Given the description of an element on the screen output the (x, y) to click on. 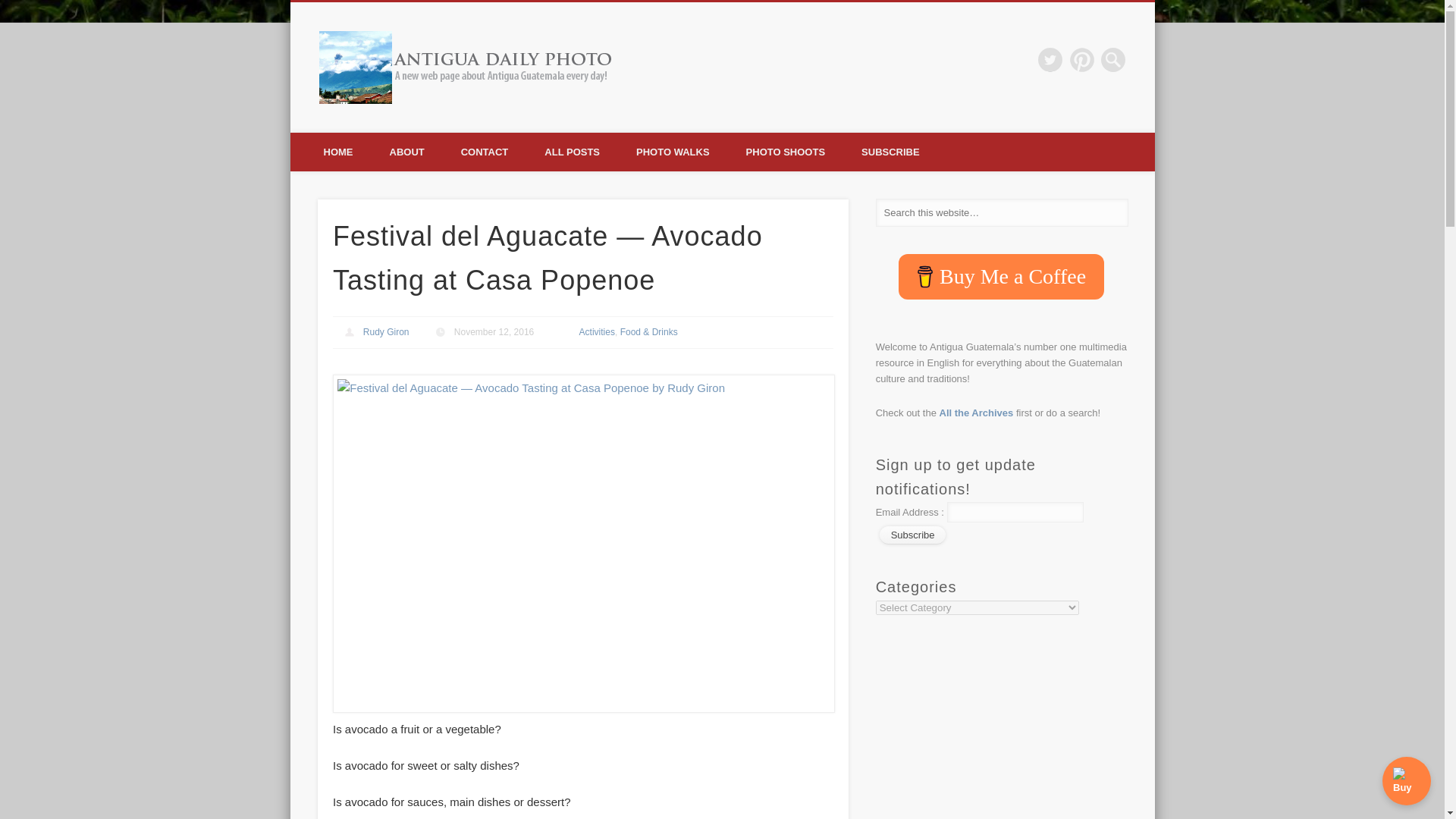
Pinterest (1082, 59)
Facebook (1018, 59)
HOME (337, 151)
Subscribe (912, 535)
SUBSCRIBE (890, 151)
Posts by Rudy Giron (385, 331)
ABOUT (406, 151)
Twitter (1050, 59)
CONTACT (484, 151)
Search (11, 7)
ALL POSTS (571, 151)
Activities (596, 331)
AntiguaDailyPhoto.Com (752, 59)
Rudy Giron (385, 331)
PHOTO SHOOTS (786, 151)
